Given the description of an element on the screen output the (x, y) to click on. 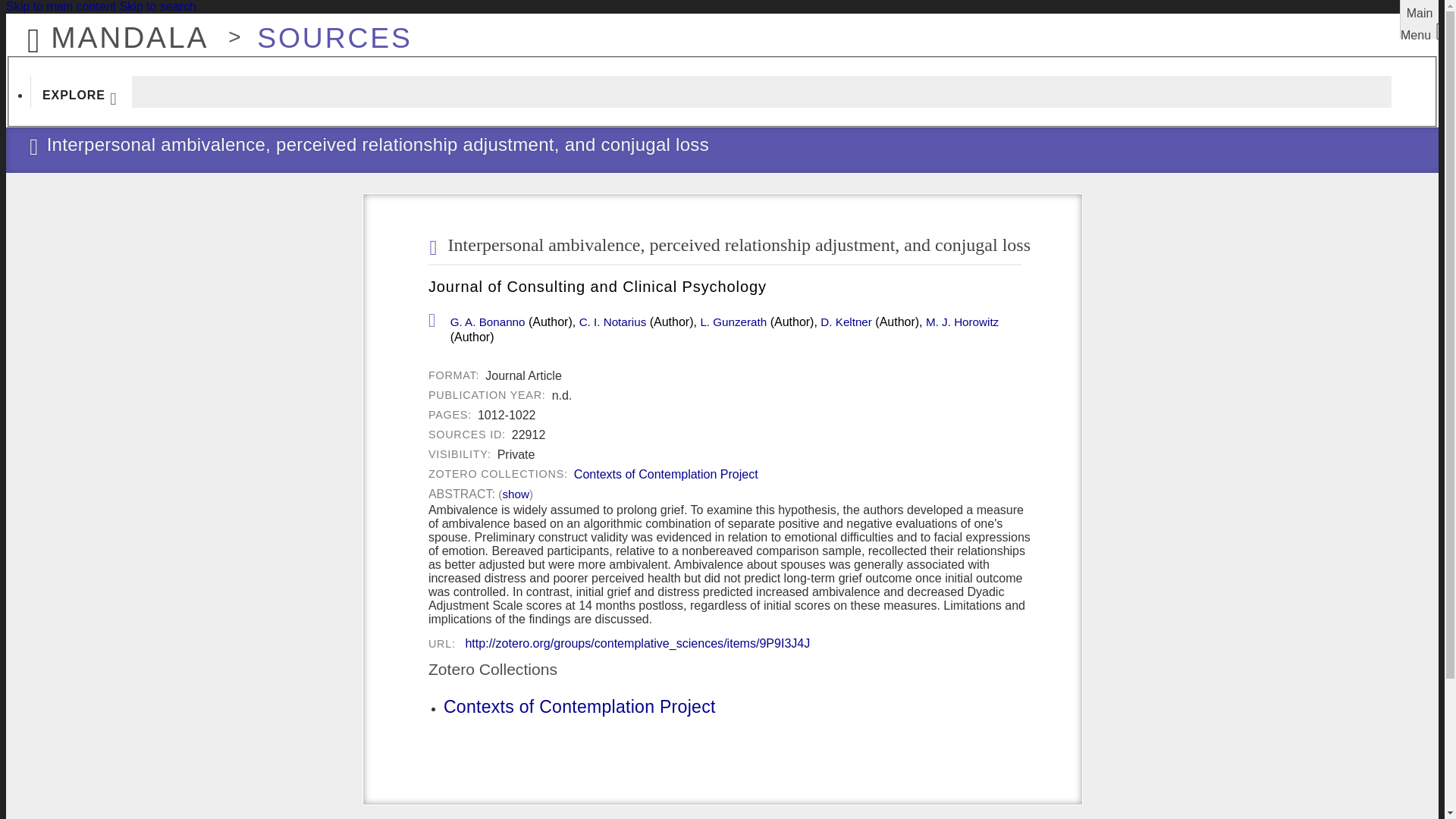
Skip to search (157, 6)
D. Keltner (846, 322)
Contexts of Contemplation Project (580, 706)
Mandala Collections - Sources Homepage (326, 29)
MANDALA (113, 29)
show (515, 494)
C. I. Notarius (612, 322)
M. J. Horowitz (962, 322)
SOURCES (326, 29)
EXPLORE (81, 91)
G. A. Bonanno (487, 322)
L. Gunzerath (733, 322)
Contexts of Contemplation Project (665, 474)
Main Menu (1419, 19)
Skip to main content (60, 6)
